Given the description of an element on the screen output the (x, y) to click on. 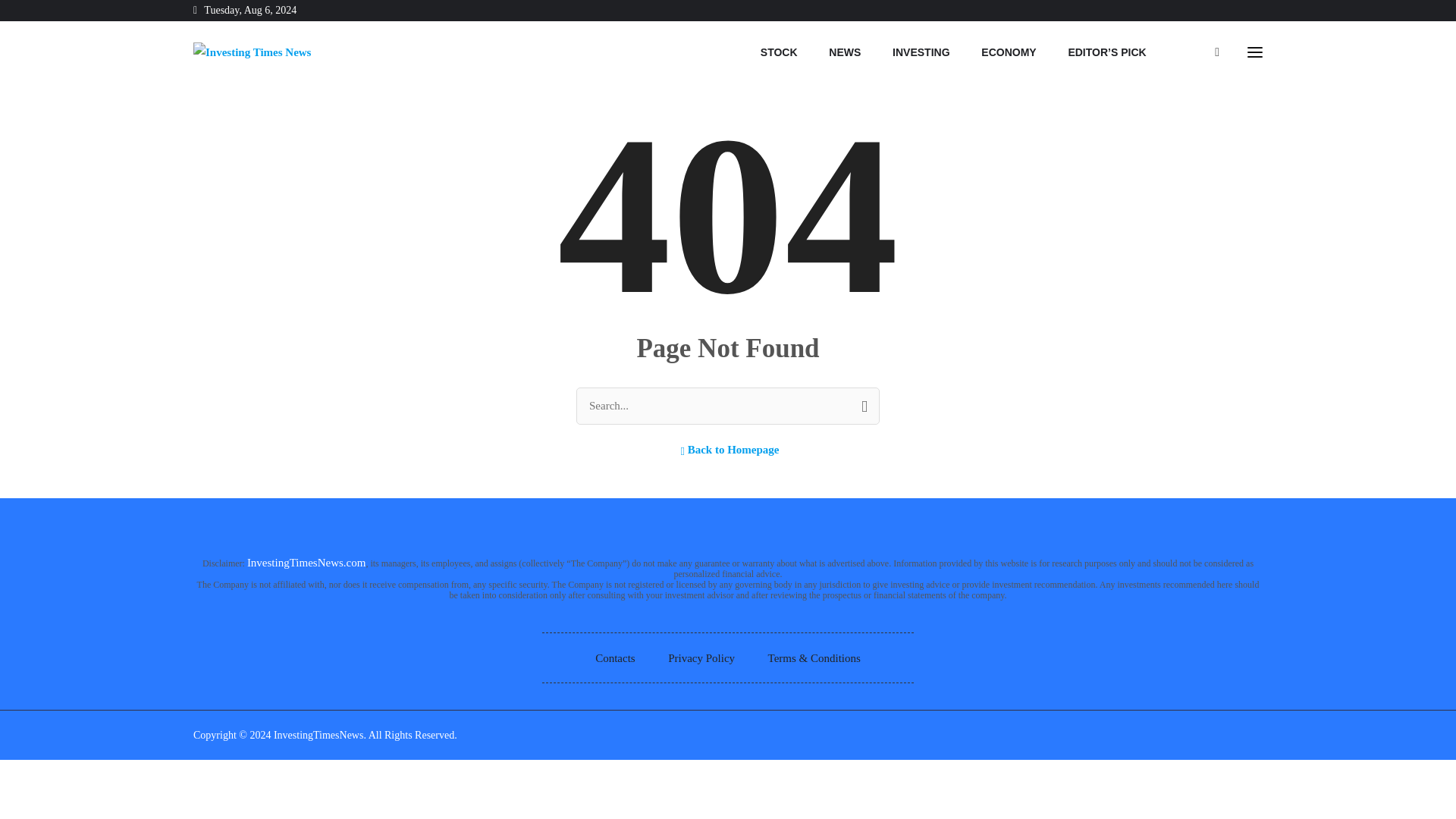
Back to Homepage (727, 449)
Privacy Policy (700, 658)
InvestingTimesNews.com (306, 562)
ECONOMY (1008, 52)
Contacts (614, 658)
INVESTING (920, 52)
